Given the description of an element on the screen output the (x, y) to click on. 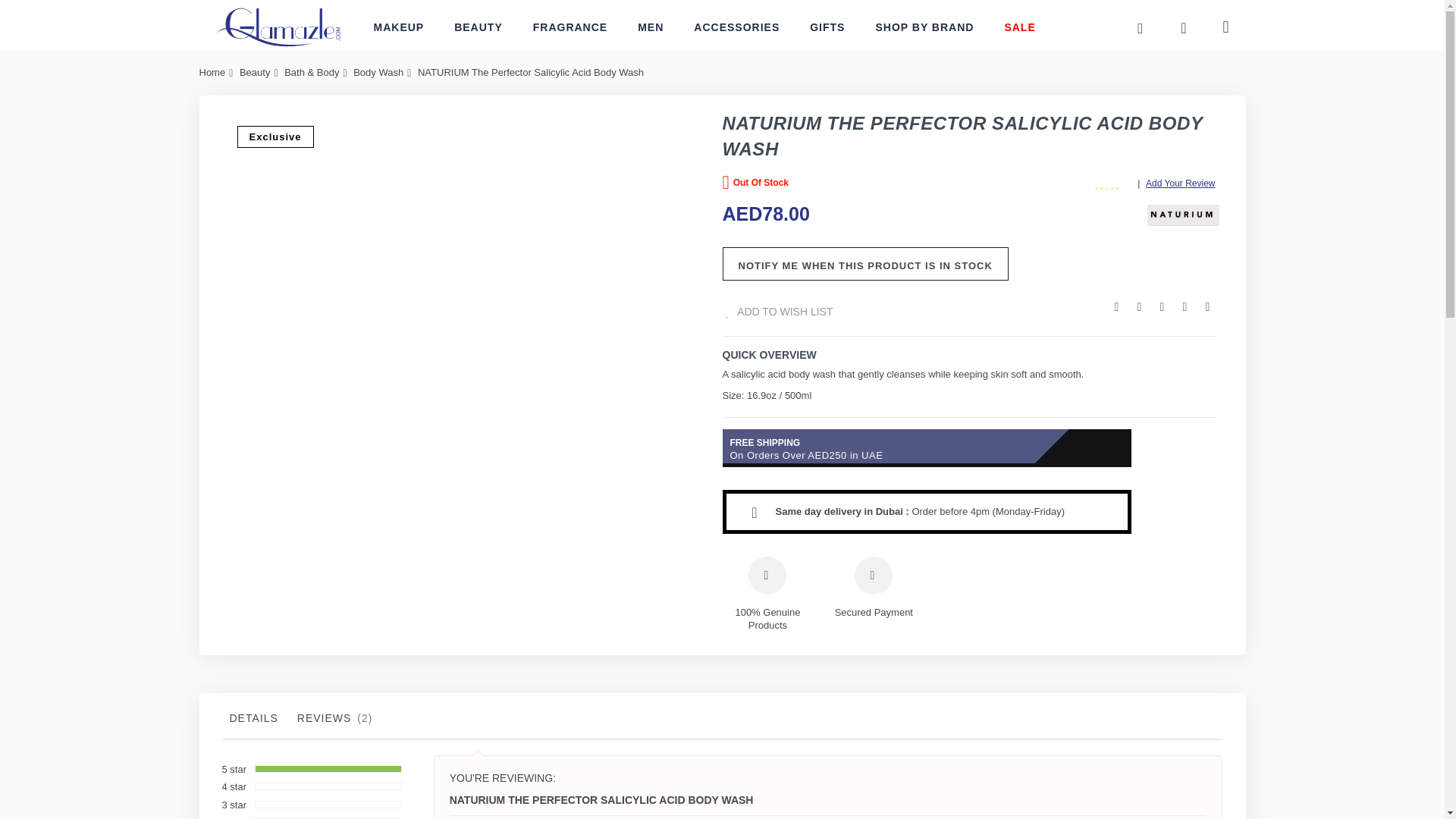
FRAGRANCE (570, 27)
Beauty (254, 71)
ACCESSORIES (736, 27)
Go to Home Page (211, 71)
Share on Facebook (1116, 306)
Pin this (1184, 306)
MEN (650, 27)
Notify me when this product is in stock (864, 264)
GIFTS (827, 27)
SEARCH (1139, 28)
Other Networks (1206, 306)
BEAUTY (478, 27)
Share on Twitter (1139, 306)
Share on LinkedIn (1161, 306)
SHOP BY BRAND (924, 27)
